Given the description of an element on the screen output the (x, y) to click on. 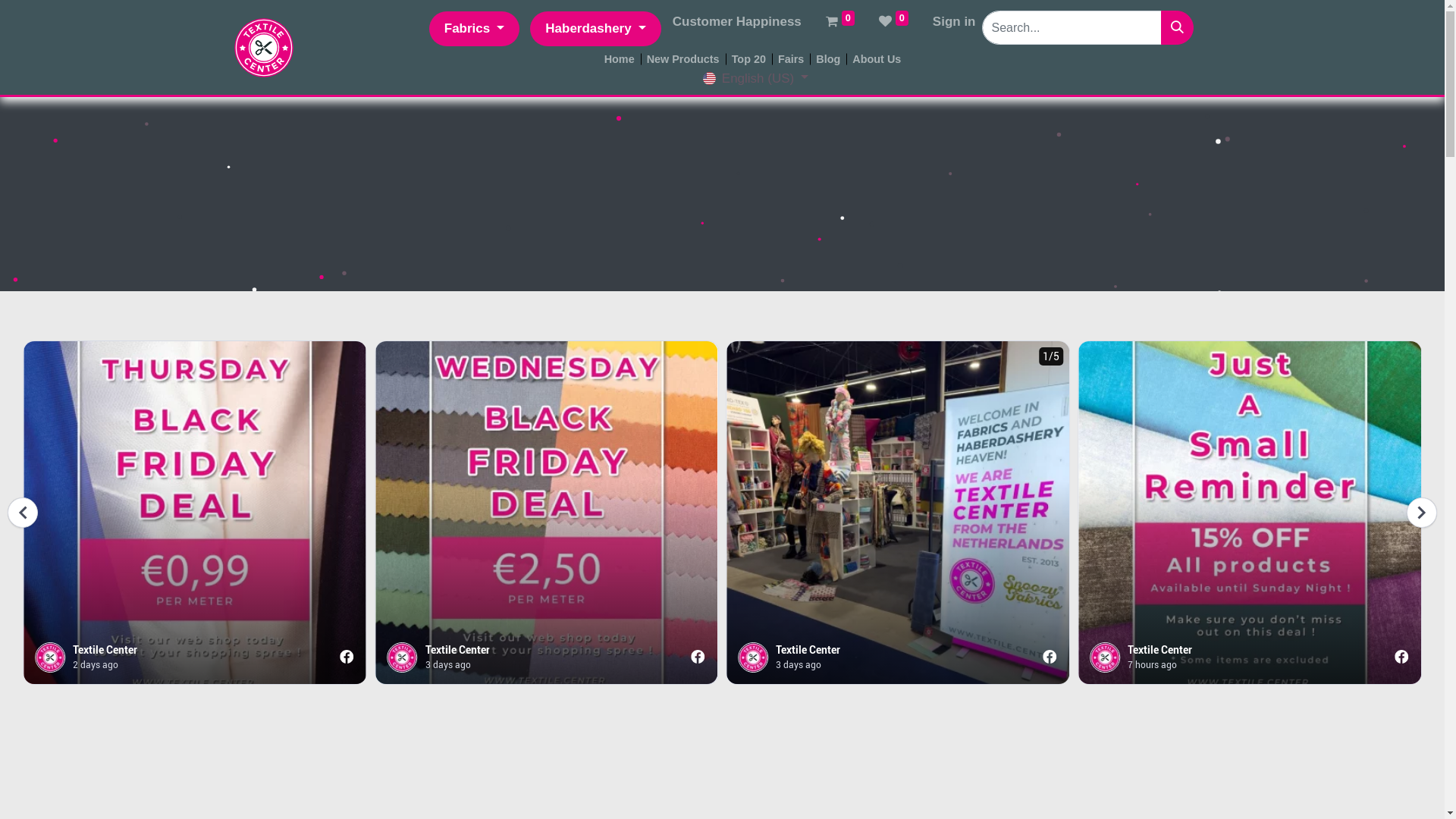
Home
(current) Element type: text (619, 59)
English (US) Element type: text (755, 77)
0 Element type: text (839, 21)
Search Element type: hover (1176, 27)
Blog Element type: text (827, 59)
Sign in Element type: text (954, 21)
Fabrics Element type: text (474, 28)
Haberdashery Element type: text (595, 28)
About Us Element type: text (876, 59)
Fairs Element type: text (790, 59)
Top 20 Element type: text (748, 59)
New Products Element type: text (682, 59)
EmbedFeed widget Element type: hover (722, 503)
Customer Happiness Element type: text (736, 21)
0 Element type: text (893, 21)
